Given the description of an element on the screen output the (x, y) to click on. 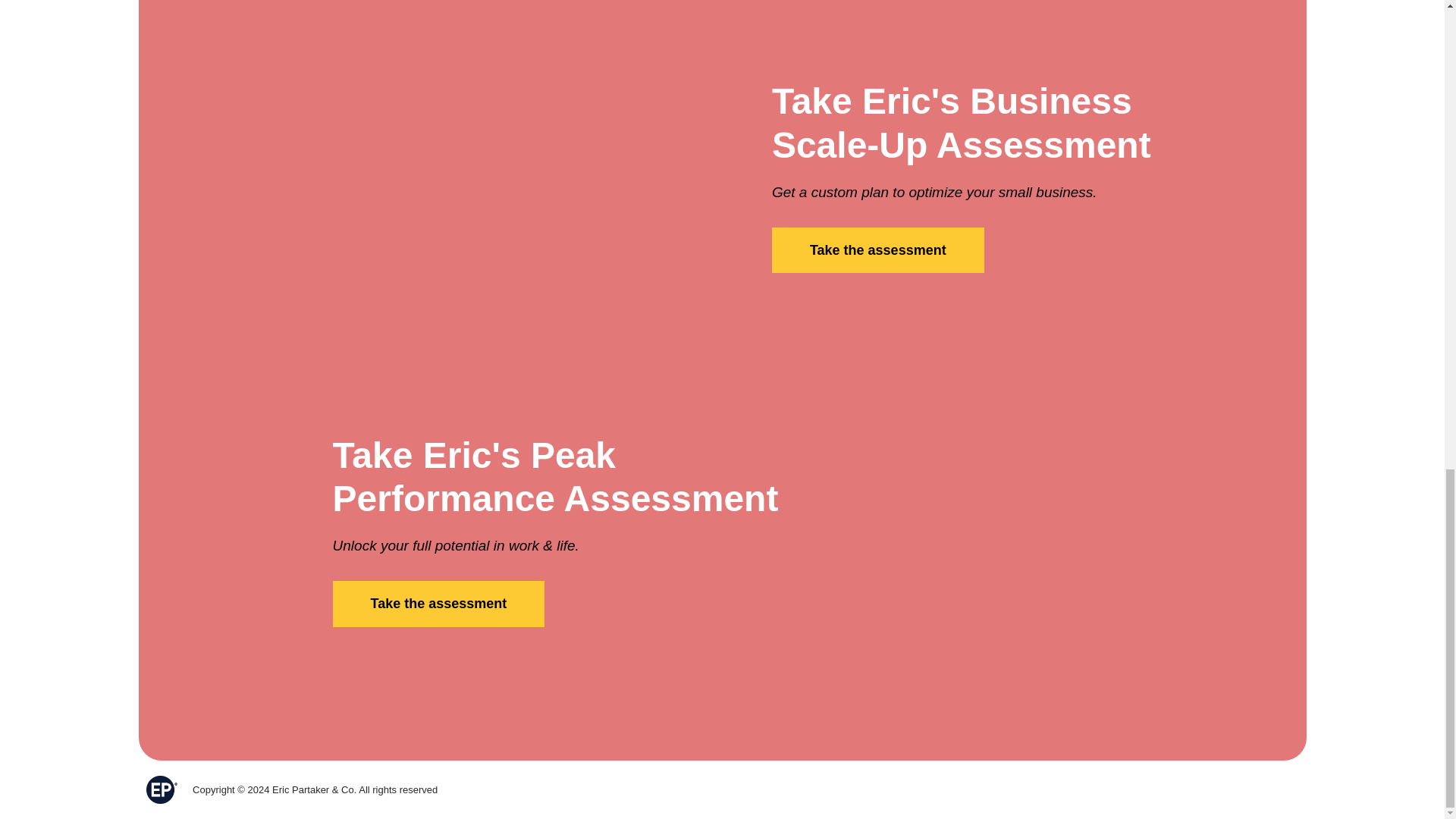
Take the assessment (438, 603)
Take the assessment (877, 250)
